Given the description of an element on the screen output the (x, y) to click on. 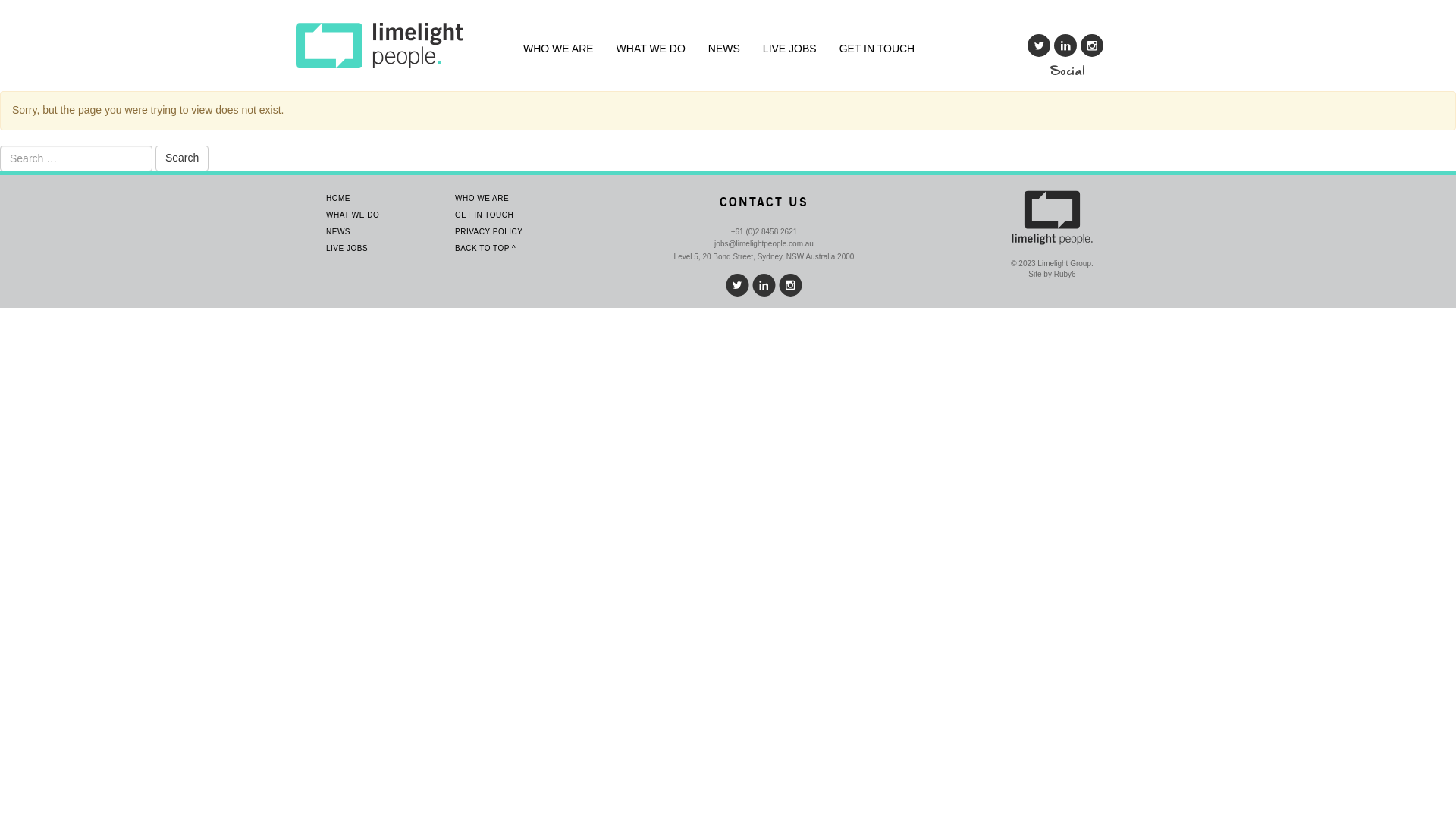
PRIVACY POLICY Element type: text (488, 231)
LIVE JOBS Element type: text (346, 248)
WHO WE ARE Element type: text (558, 49)
WHO WE ARE Element type: text (481, 198)
GET IN TOUCH Element type: text (484, 214)
LIVE JOBS Element type: text (789, 49)
BACK TO TOP ^ Element type: text (485, 248)
Level 5,
20 Bond Street,
Sydney, NSW Australia
2000 Element type: text (763, 256)
NEWS Element type: text (723, 49)
WHAT WE DO Element type: text (352, 214)
NEWS Element type: text (338, 231)
HOME Element type: text (338, 198)
GET IN TOUCH Element type: text (877, 49)
WHAT WE DO Element type: text (650, 49)
Search Element type: text (181, 158)
jobs@limelightpeople.com.au Element type: text (763, 243)
